Given the description of an element on the screen output the (x, y) to click on. 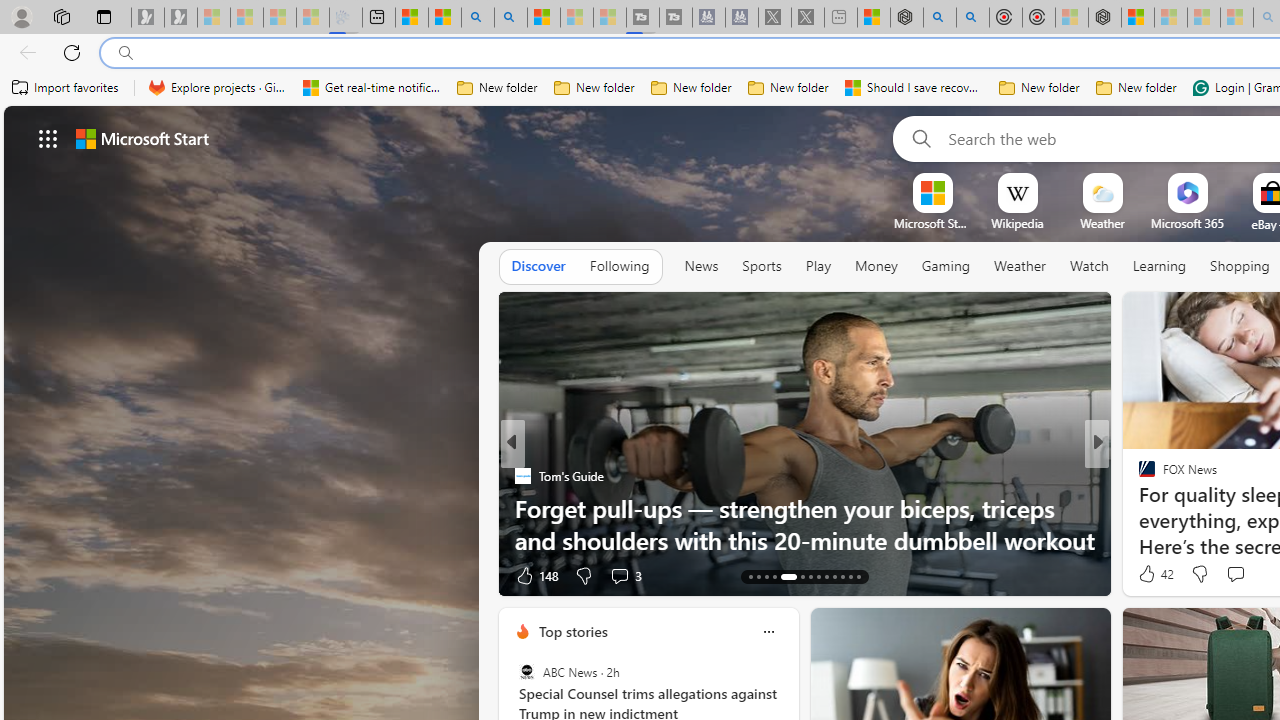
Microsoft Start - Sleeping (576, 17)
Shopping (1240, 265)
AutomationID: tab-18 (801, 576)
Medpage Today (1138, 475)
Top stories (572, 631)
AutomationID: tab-14 (757, 576)
Gaming (945, 267)
Learning (1159, 265)
94 Like (1149, 574)
AutomationID: tab-25 (857, 576)
